Given the description of an element on the screen output the (x, y) to click on. 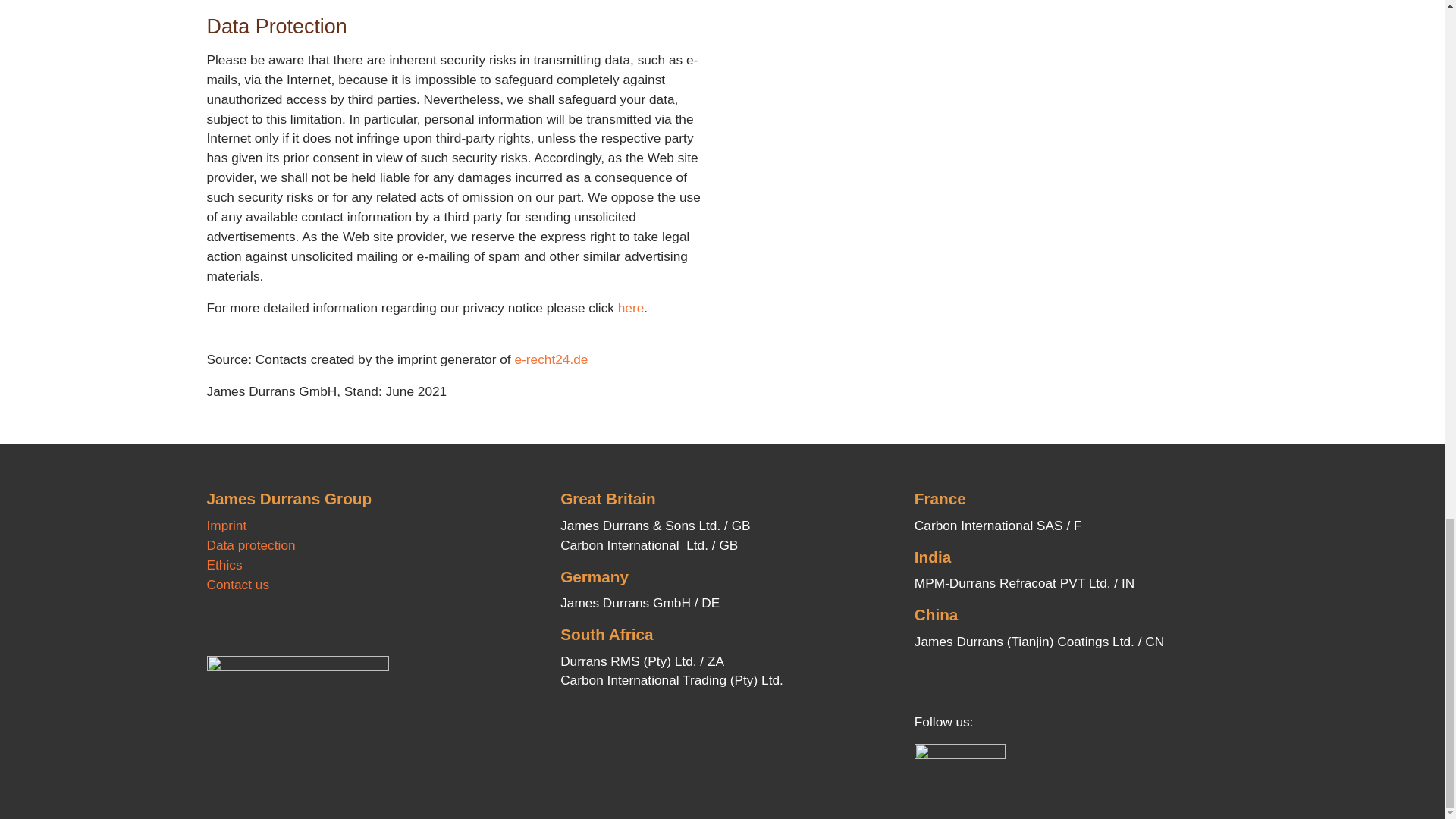
Contact us (237, 584)
Imprint (226, 525)
Ethics (223, 564)
here (631, 307)
e-recht24.de (550, 359)
Data protection (250, 544)
